Given the description of an element on the screen output the (x, y) to click on. 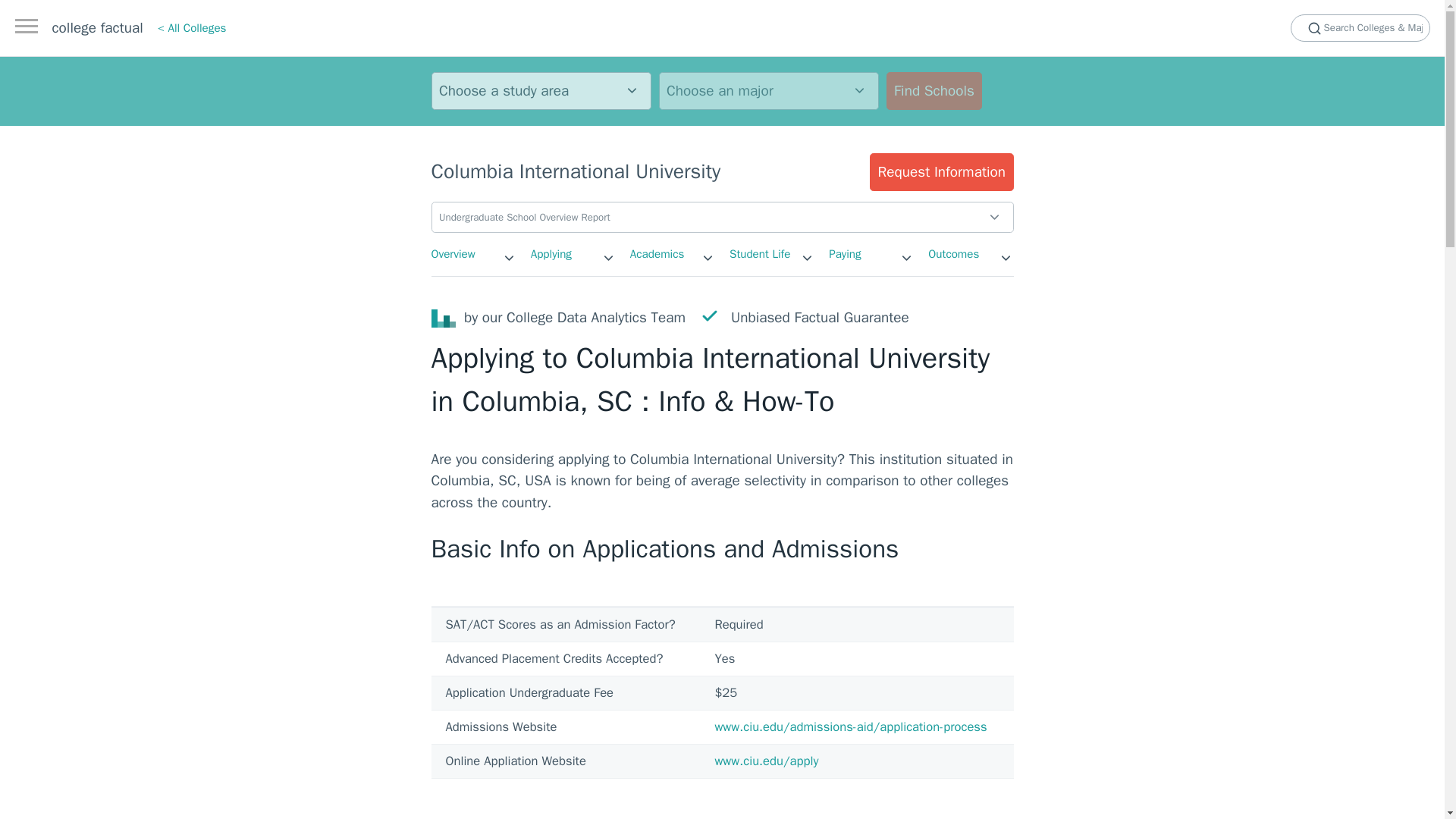
Request Information (941, 171)
college factual (97, 27)
Outcomes (953, 253)
Applying (551, 253)
Academics (657, 253)
Student Life (759, 253)
Paying (844, 253)
Find Schools (933, 90)
Overview (452, 253)
